Given the description of an element on the screen output the (x, y) to click on. 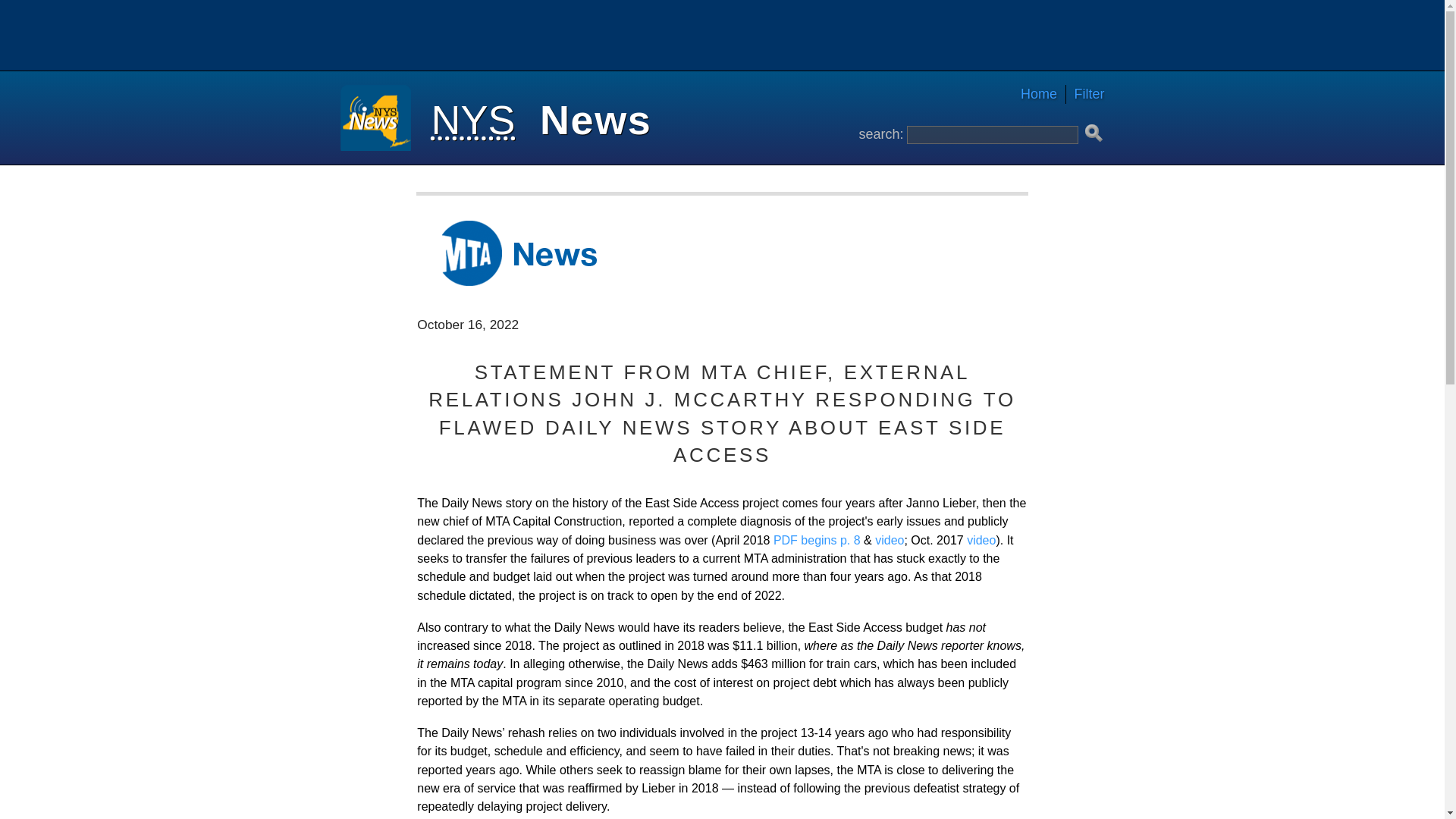
PDF begins p. 8 (816, 540)
search (1094, 133)
New York State (472, 119)
Home (1038, 94)
video (980, 540)
video (889, 540)
Filter (1085, 94)
